Given the description of an element on the screen output the (x, y) to click on. 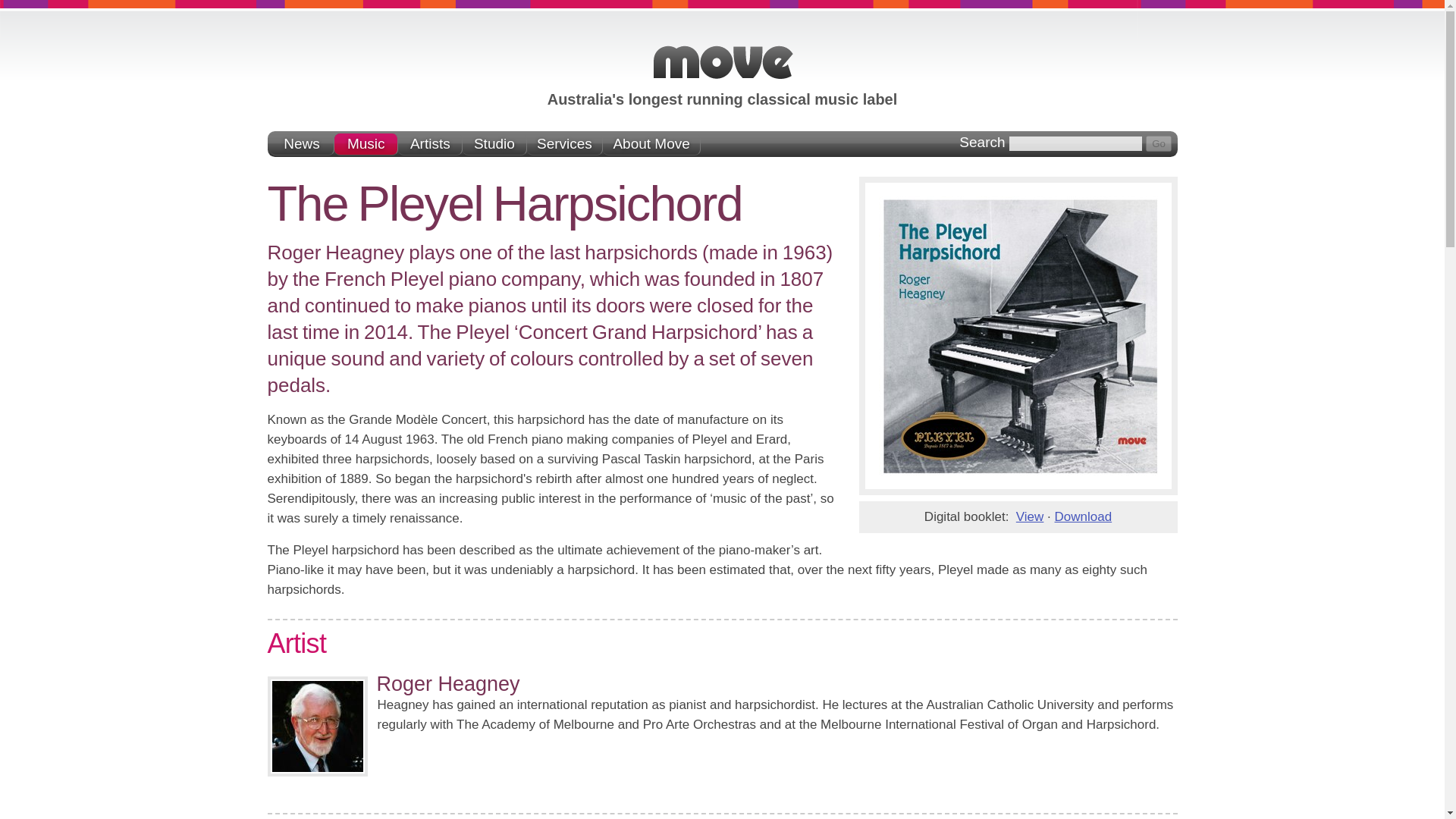
News (301, 144)
Music (366, 144)
Go (1158, 143)
Artists (430, 144)
View (1029, 516)
Services (564, 144)
About Move (651, 144)
Roger Heagney (447, 683)
Go (1158, 143)
Download (1083, 516)
